Given the description of an element on the screen output the (x, y) to click on. 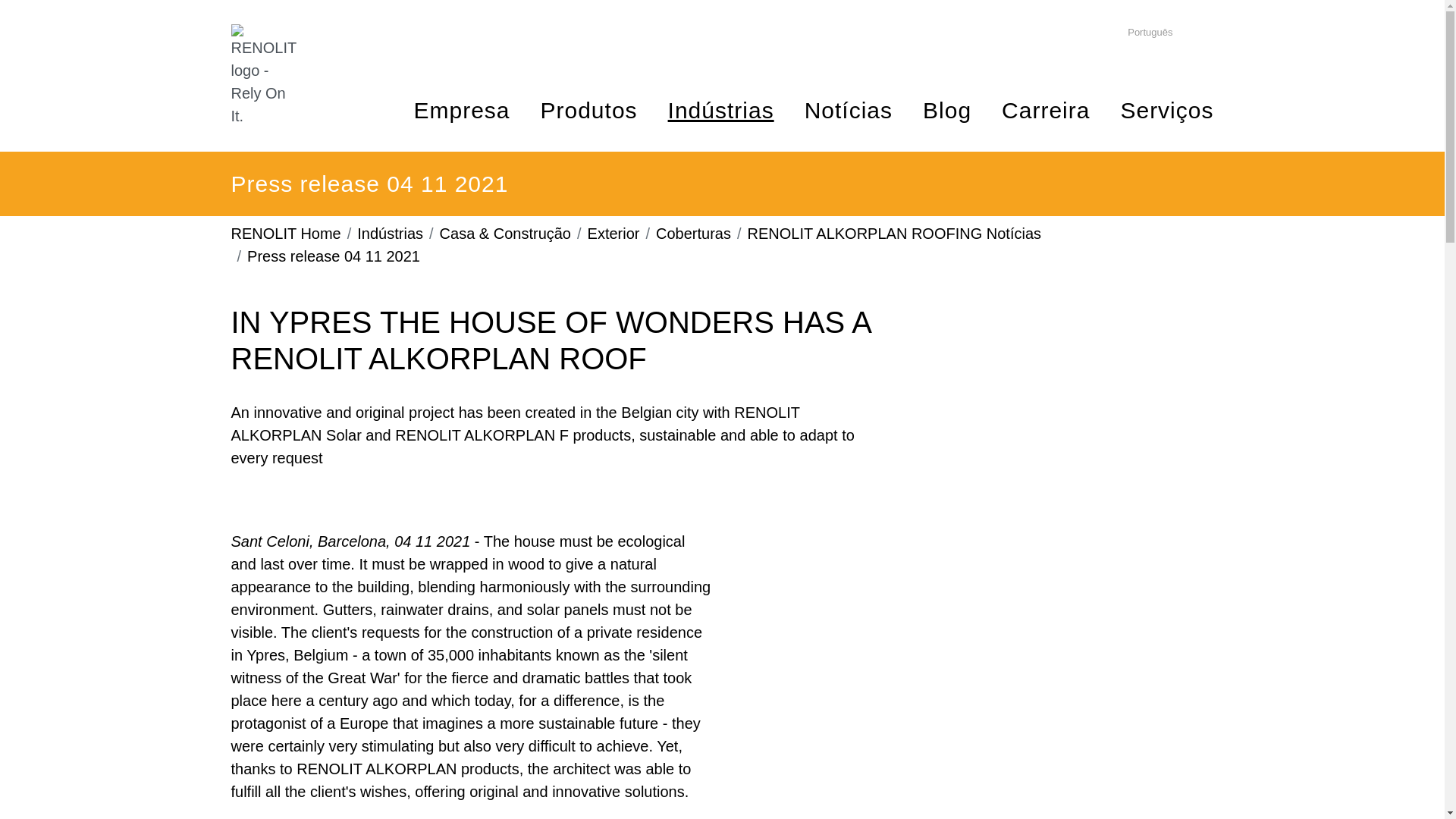
Empresa (461, 109)
Blog (947, 109)
RENOLIT Home (285, 233)
Produtos (588, 109)
Carreira (1045, 109)
